Given the description of an element on the screen output the (x, y) to click on. 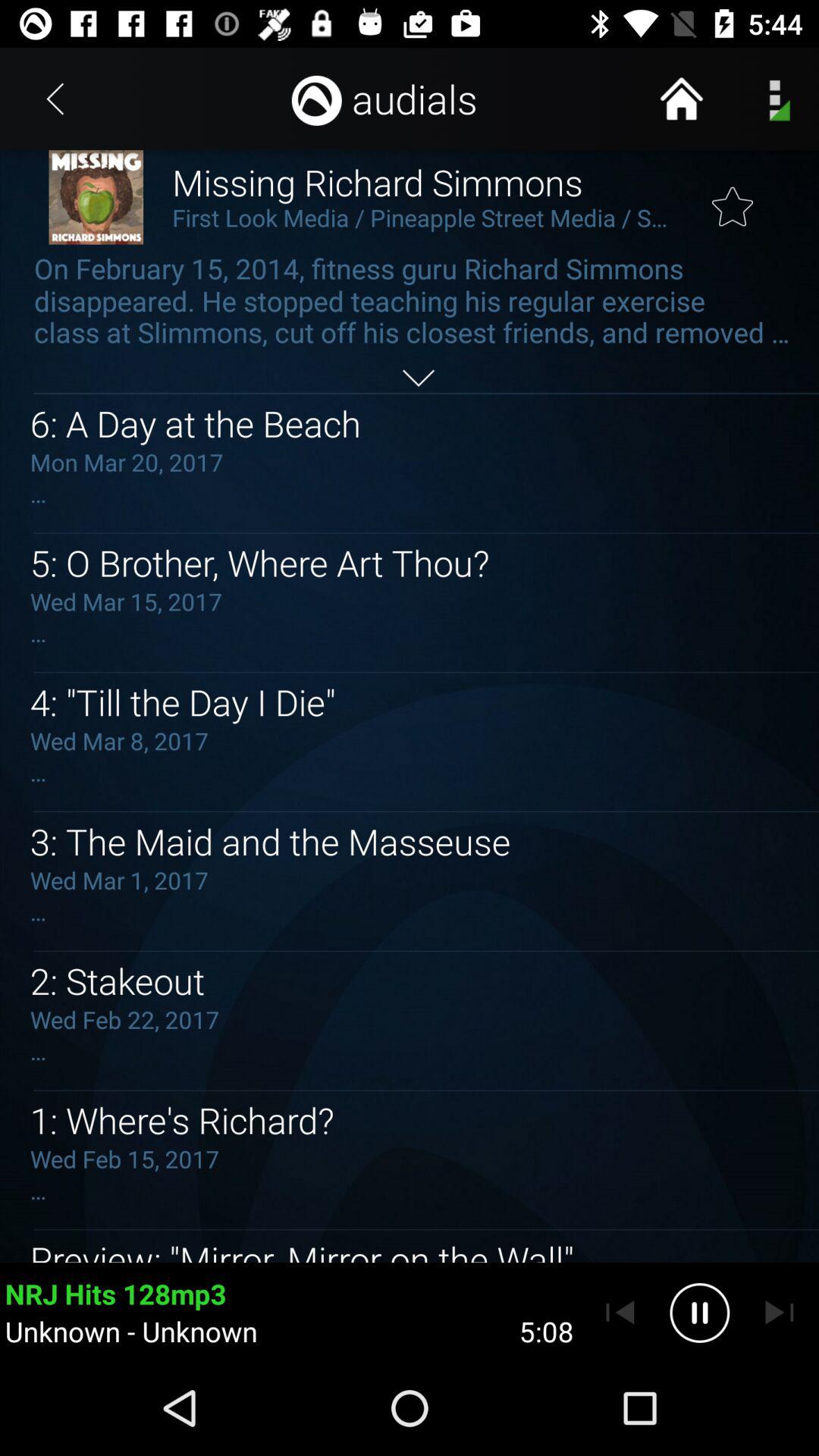
go to home page (681, 98)
